Given the description of an element on the screen output the (x, y) to click on. 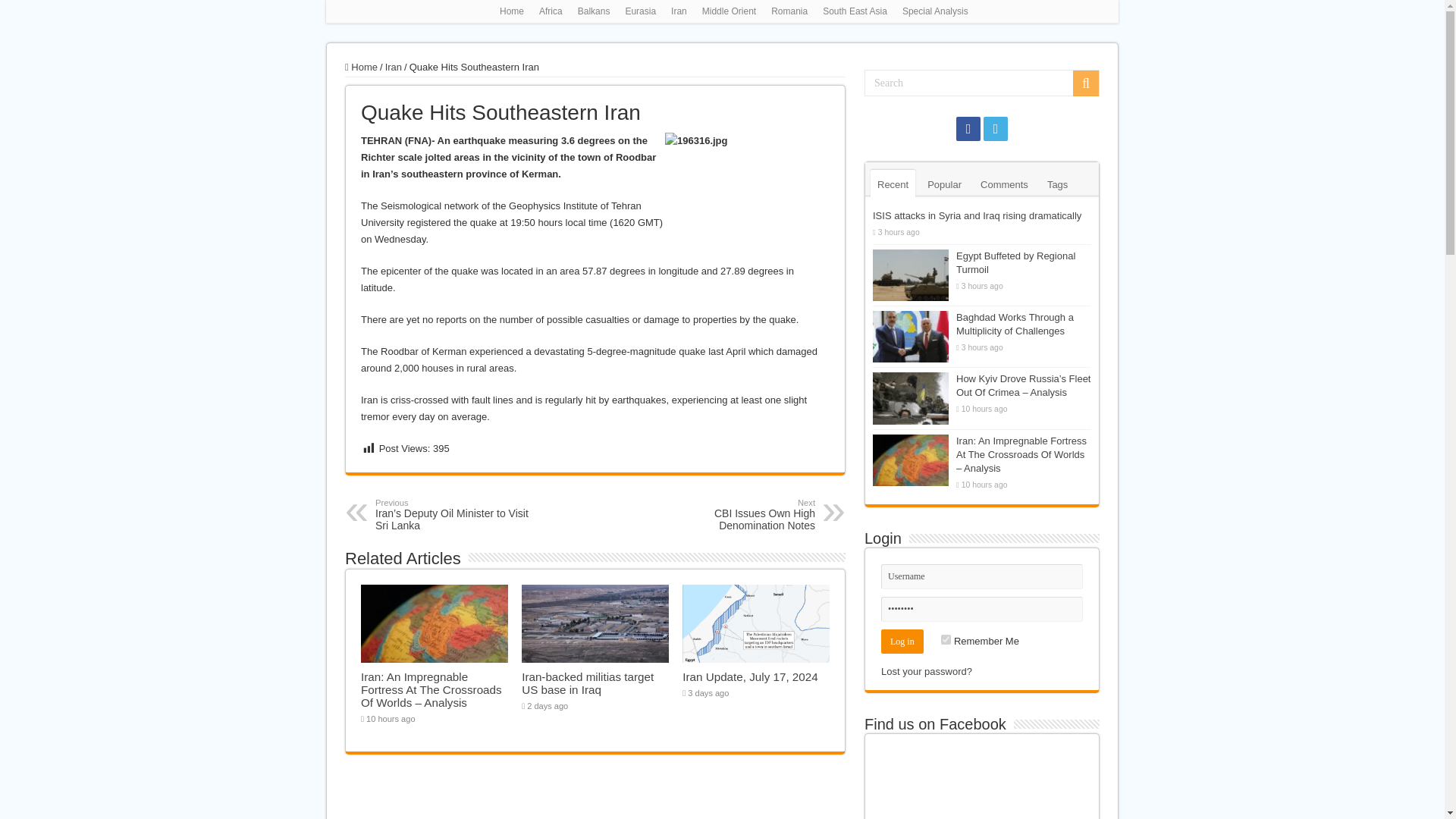
Password (981, 609)
Home (511, 11)
Username (981, 576)
Special Analysis (935, 11)
South East Asia (855, 11)
Iran (737, 514)
Balkans (393, 66)
Comments (593, 11)
Egypt Buffeted by Regional Turmoil (1004, 183)
Middle Orient (1015, 262)
Username (728, 11)
forever (981, 576)
Search (945, 639)
Password (981, 82)
